Given the description of an element on the screen output the (x, y) to click on. 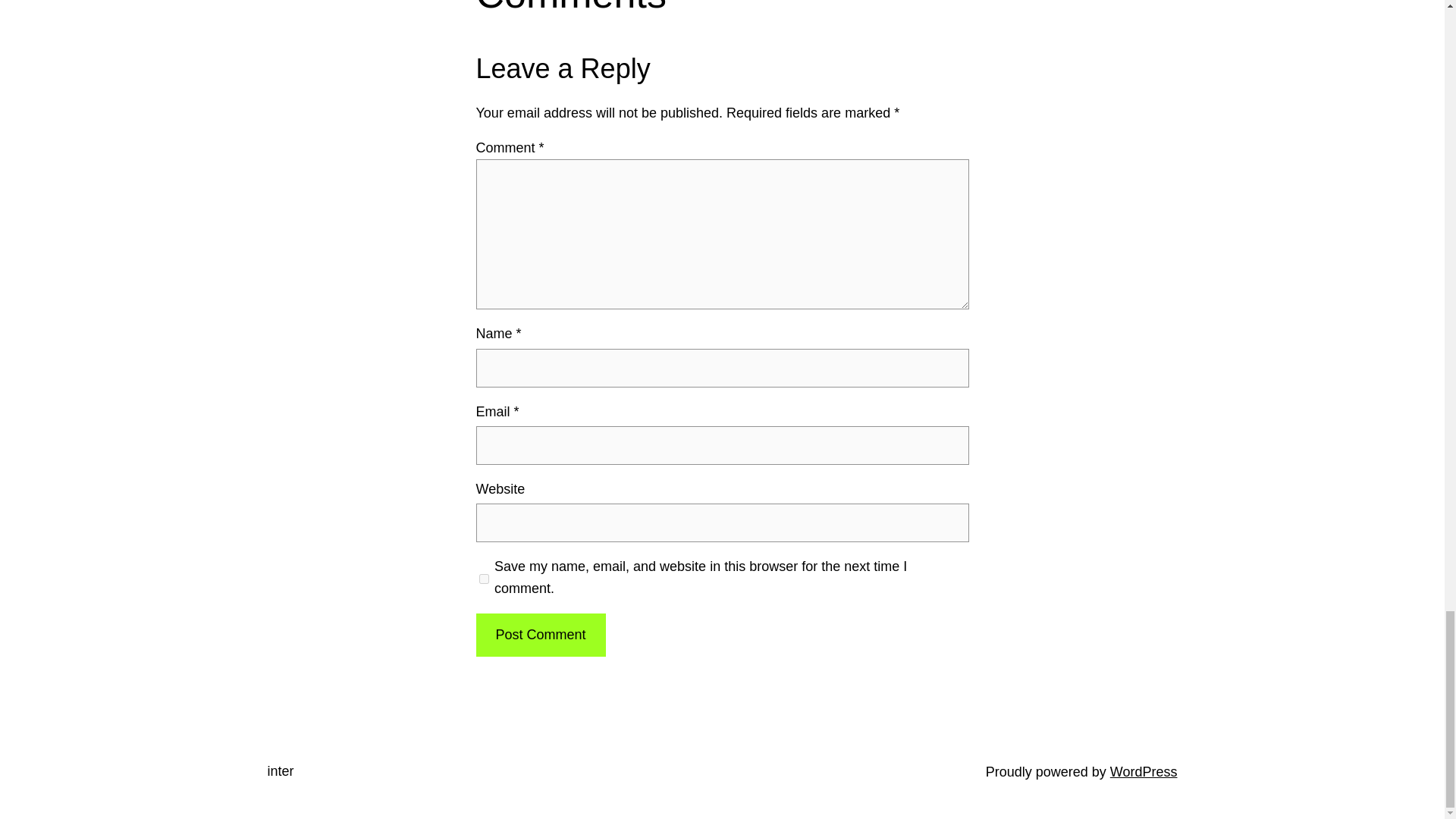
Post Comment (540, 634)
Post Comment (540, 634)
WordPress (1143, 770)
inter (280, 770)
yes (484, 578)
